Given the description of an element on the screen output the (x, y) to click on. 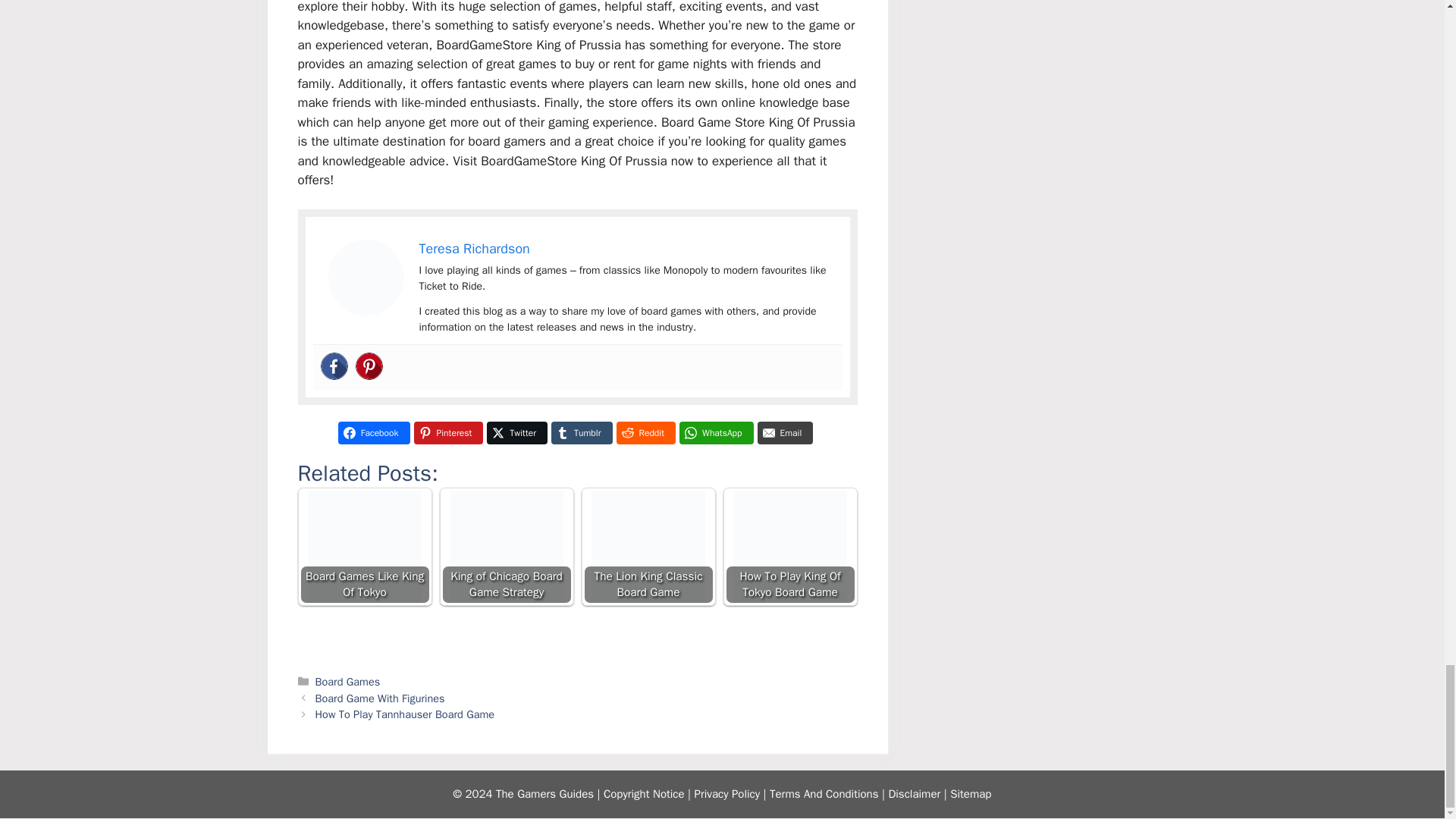
Facebook (333, 366)
Board Game Store King Of Prussia 2 (365, 277)
